Given the description of an element on the screen output the (x, y) to click on. 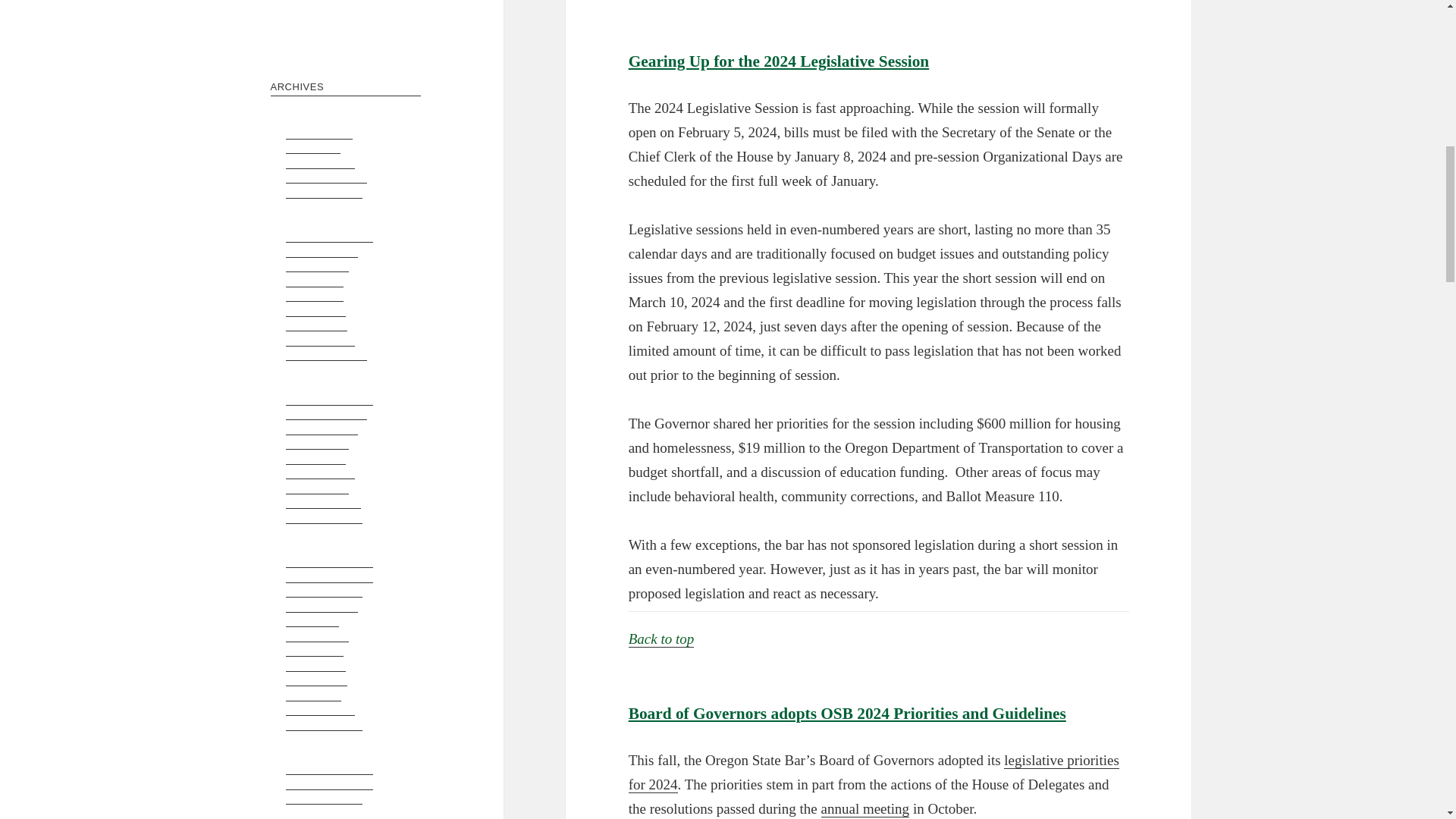
February 7, 2022 (323, 502)
August 26, 2022 (321, 428)
March 12, 2024 (319, 162)
January 12, 2021 (323, 725)
February 23, 2023 (325, 354)
December 18, 2020 (328, 768)
December 16, 2022 (328, 399)
June 29, 2022 (316, 443)
June 7, 2021 (313, 650)
April 2, 2021 (312, 695)
